Given the description of an element on the screen output the (x, y) to click on. 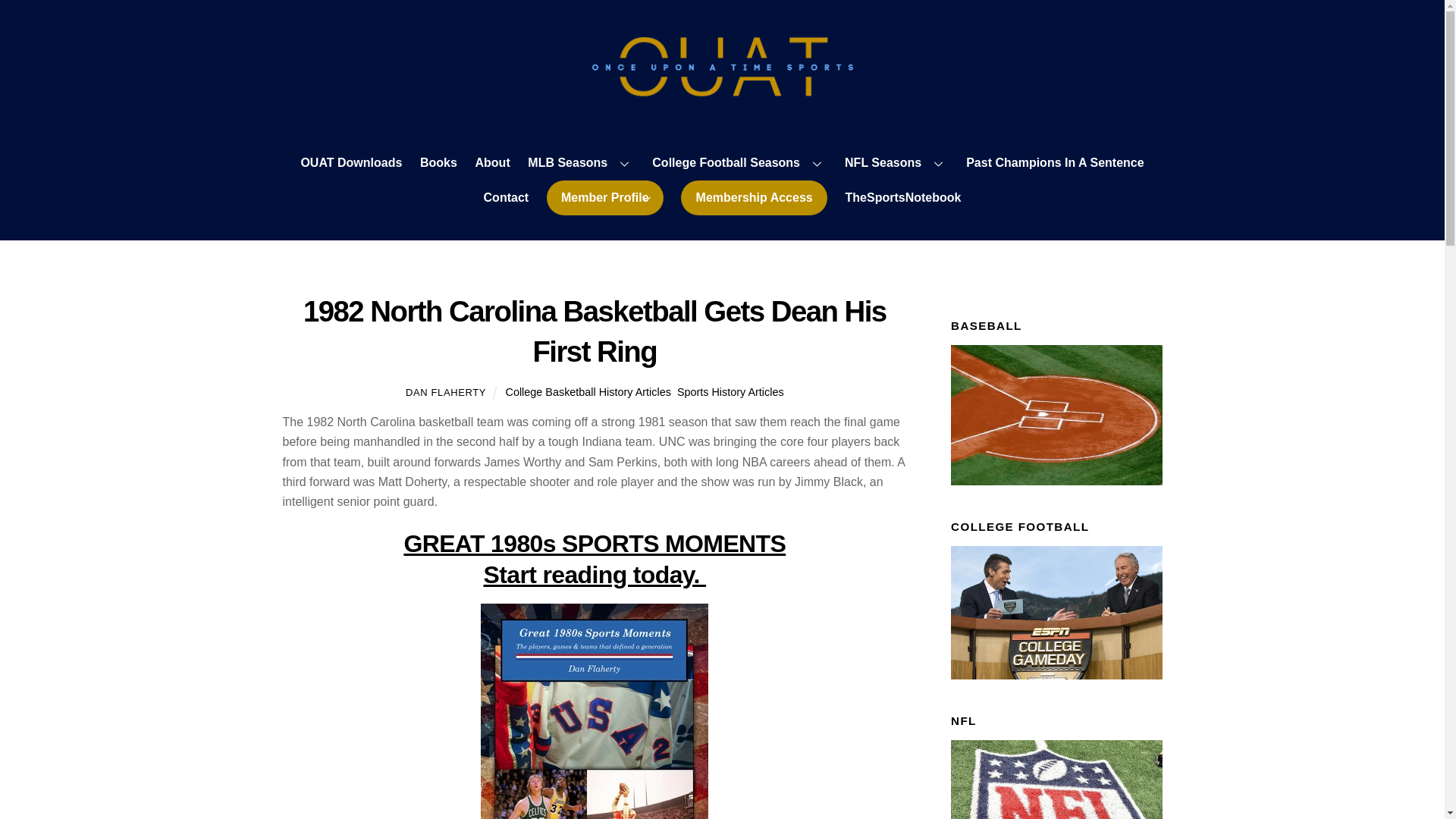
Books (438, 163)
OUAT Downloads (351, 163)
About (491, 163)
MLB Seasons (581, 163)
OUAT Sports (722, 91)
